Given the description of an element on the screen output the (x, y) to click on. 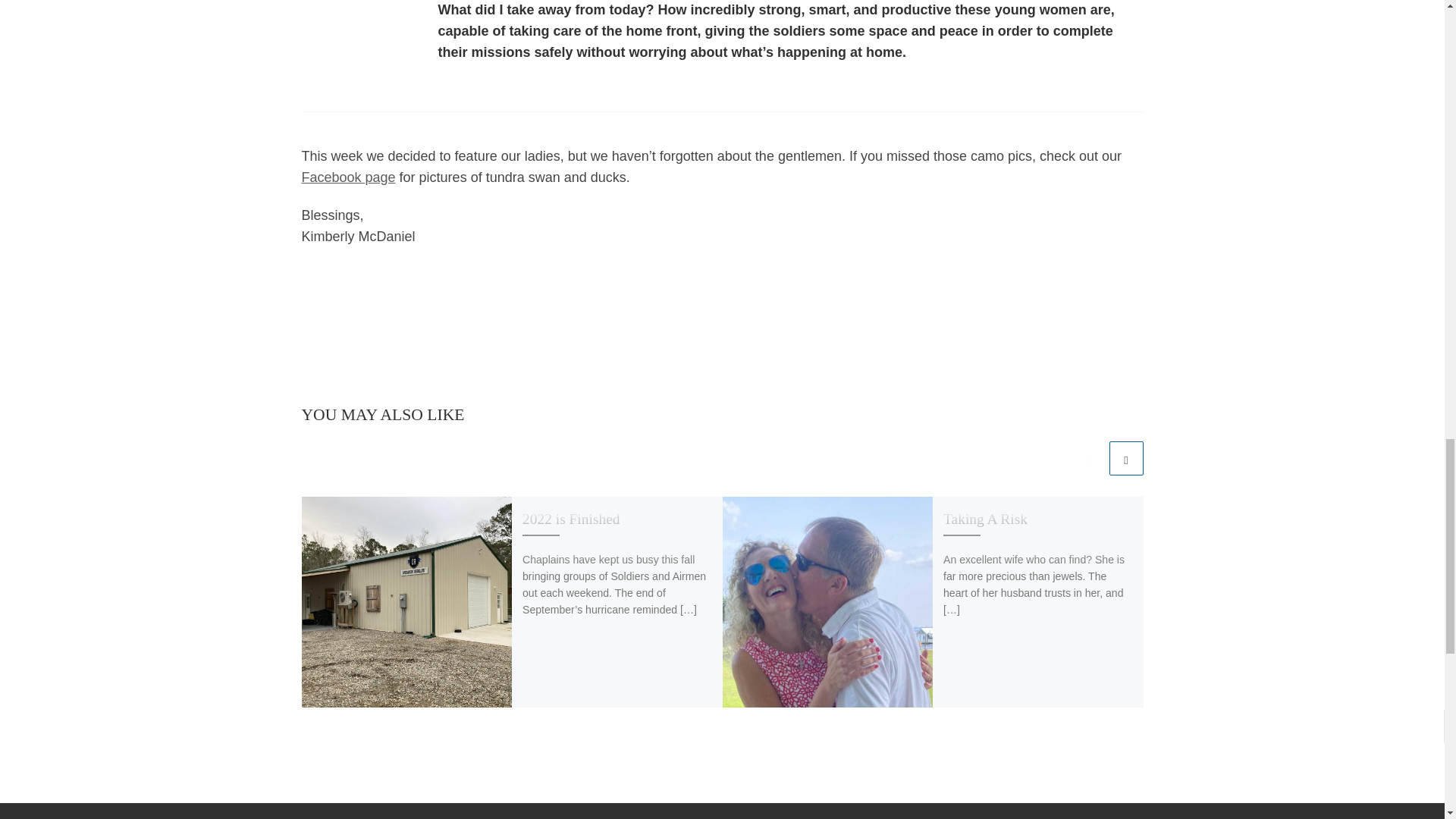
Next related articles (1125, 458)
Previous related articles (1088, 458)
